Given the description of an element on the screen output the (x, y) to click on. 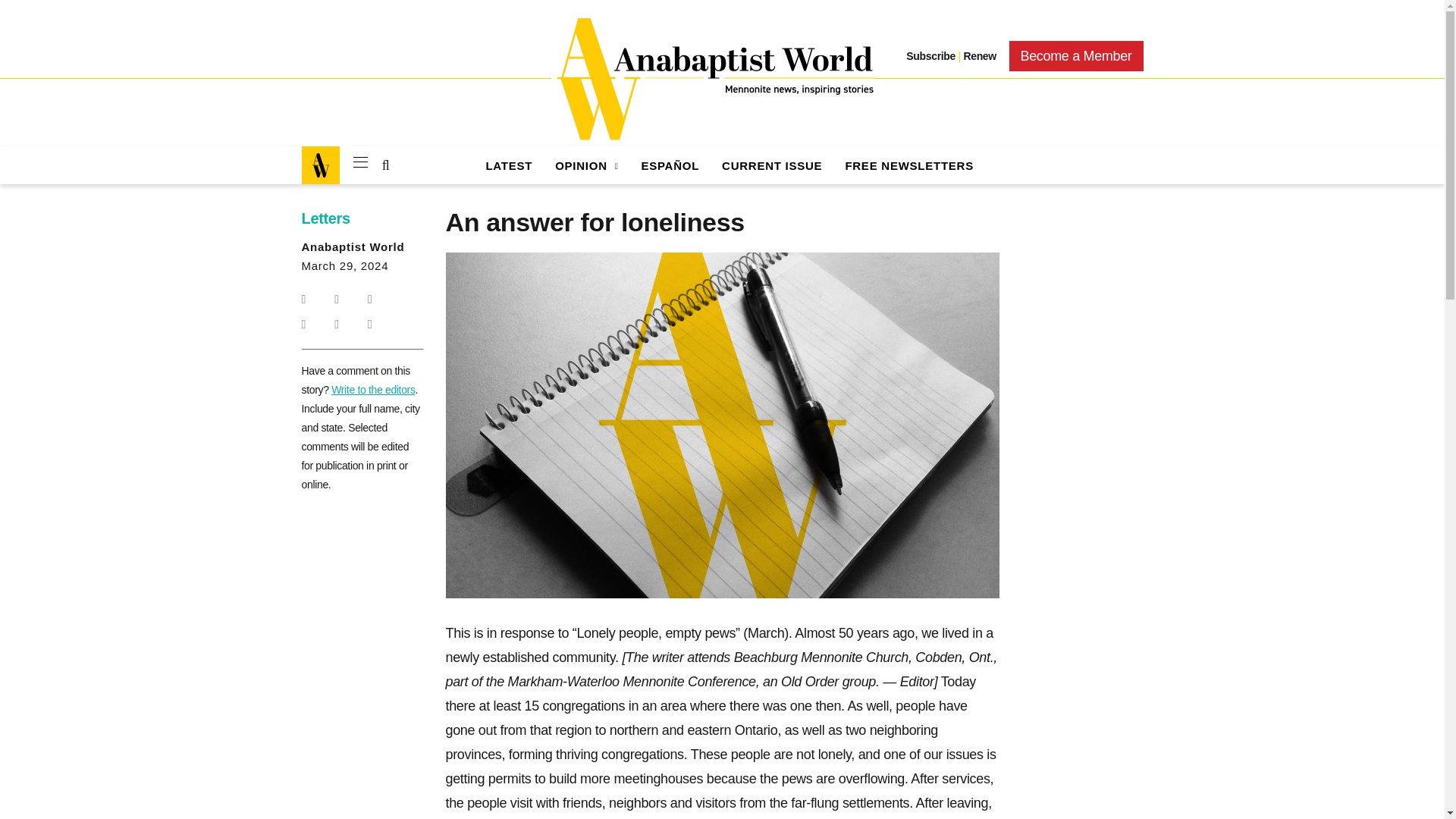
Anabaptist World (713, 79)
Current Issue (772, 164)
Free Newsletters (909, 164)
Latest (508, 164)
Opinion (585, 164)
Posts by Anabaptist World (352, 246)
